Given the description of an element on the screen output the (x, y) to click on. 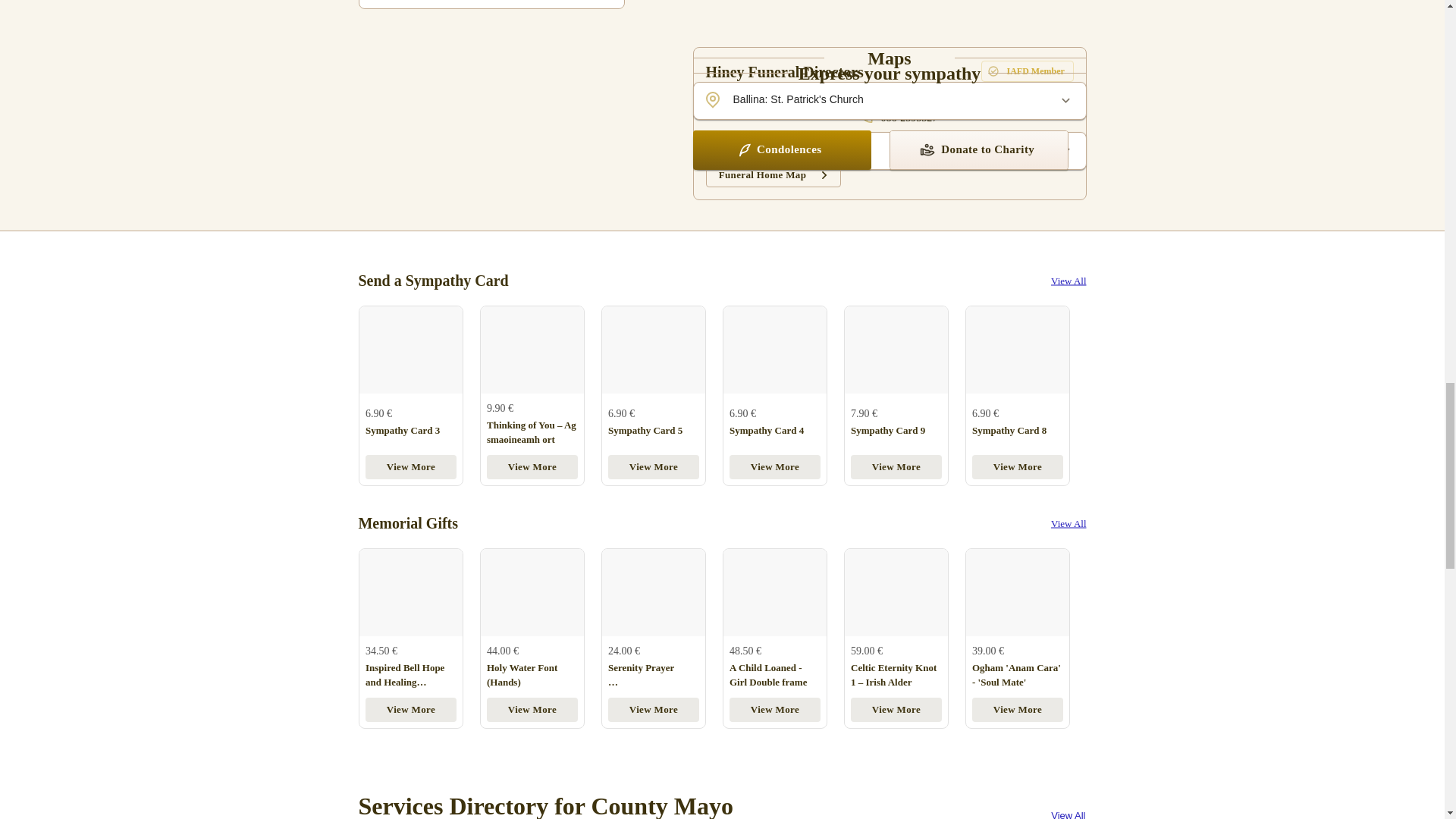
IAFD Member (1027, 71)
Funeral Home Map (773, 174)
